Given the description of an element on the screen output the (x, y) to click on. 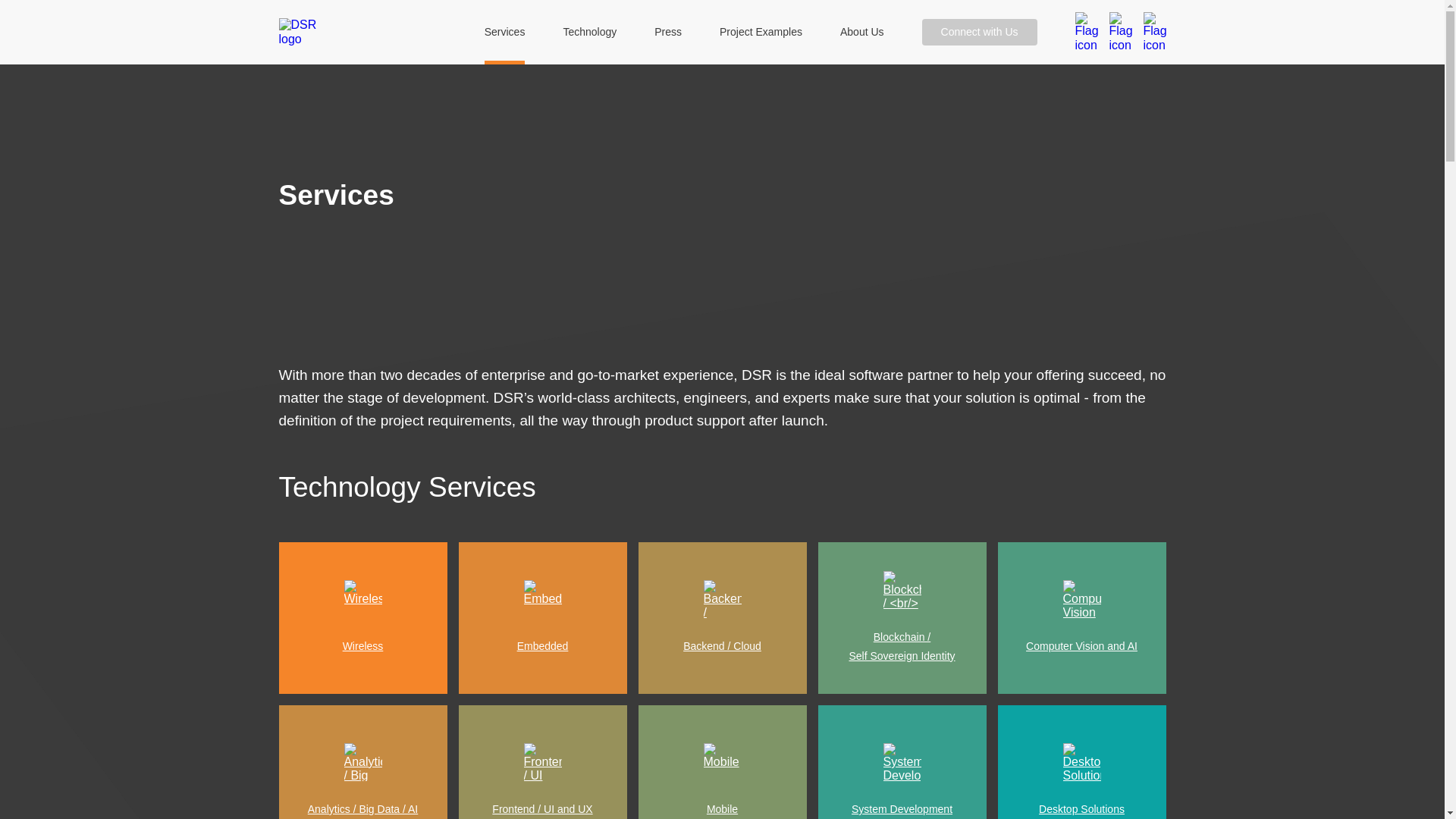
Services (504, 31)
Wireless (362, 617)
Computer Vision and AI (1081, 617)
Connect with Us (978, 31)
Mobile (722, 762)
System Development (900, 762)
Desktop Solutions (1081, 762)
Project Examples (760, 31)
Press (667, 31)
About Us (861, 31)
Technology (588, 31)
Embedded (542, 617)
